Given the description of an element on the screen output the (x, y) to click on. 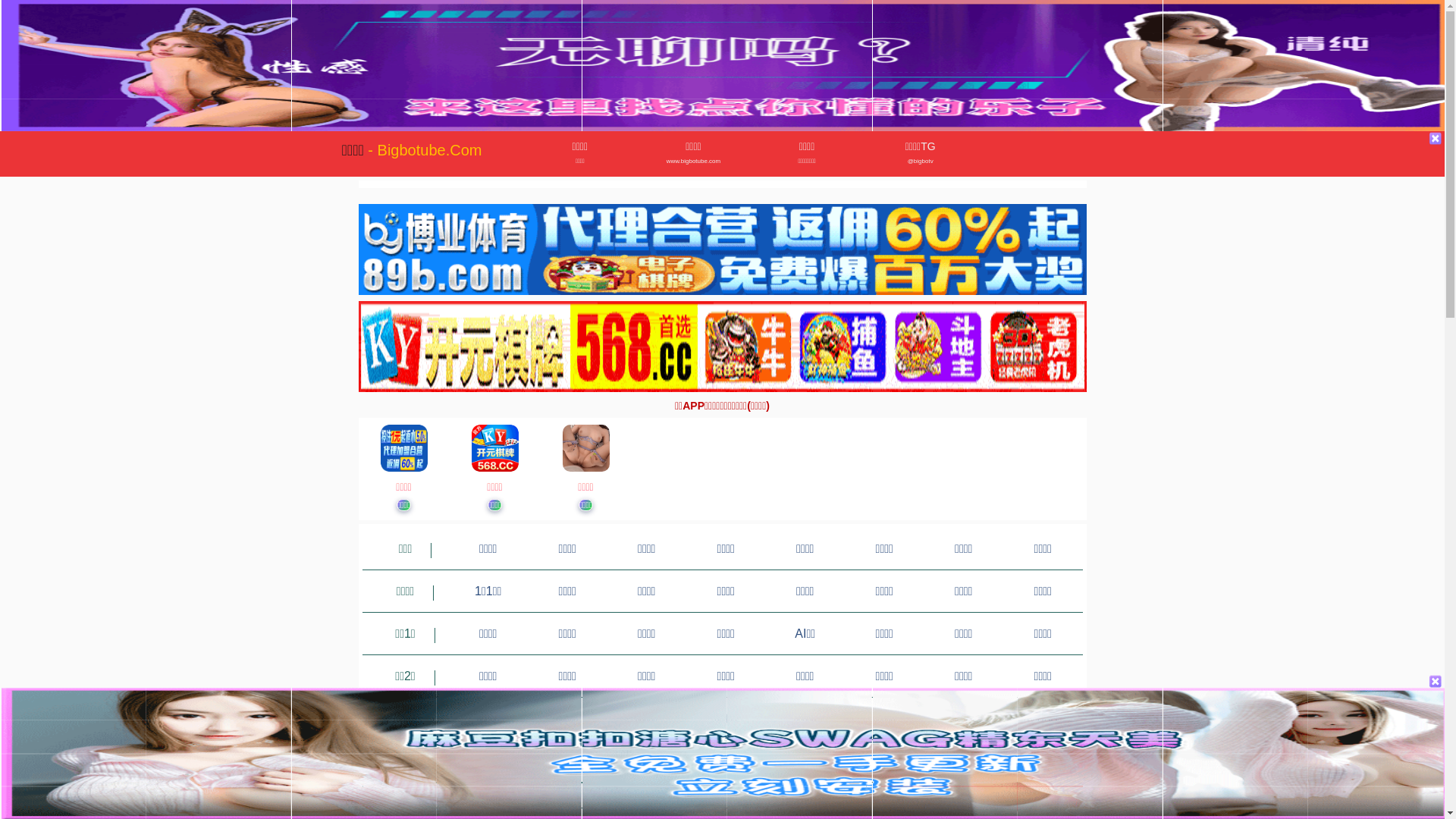
www.bigbotube.com Element type: text (693, 161)
- Bigbotube.Com Element type: text (424, 149)
